Given the description of an element on the screen output the (x, y) to click on. 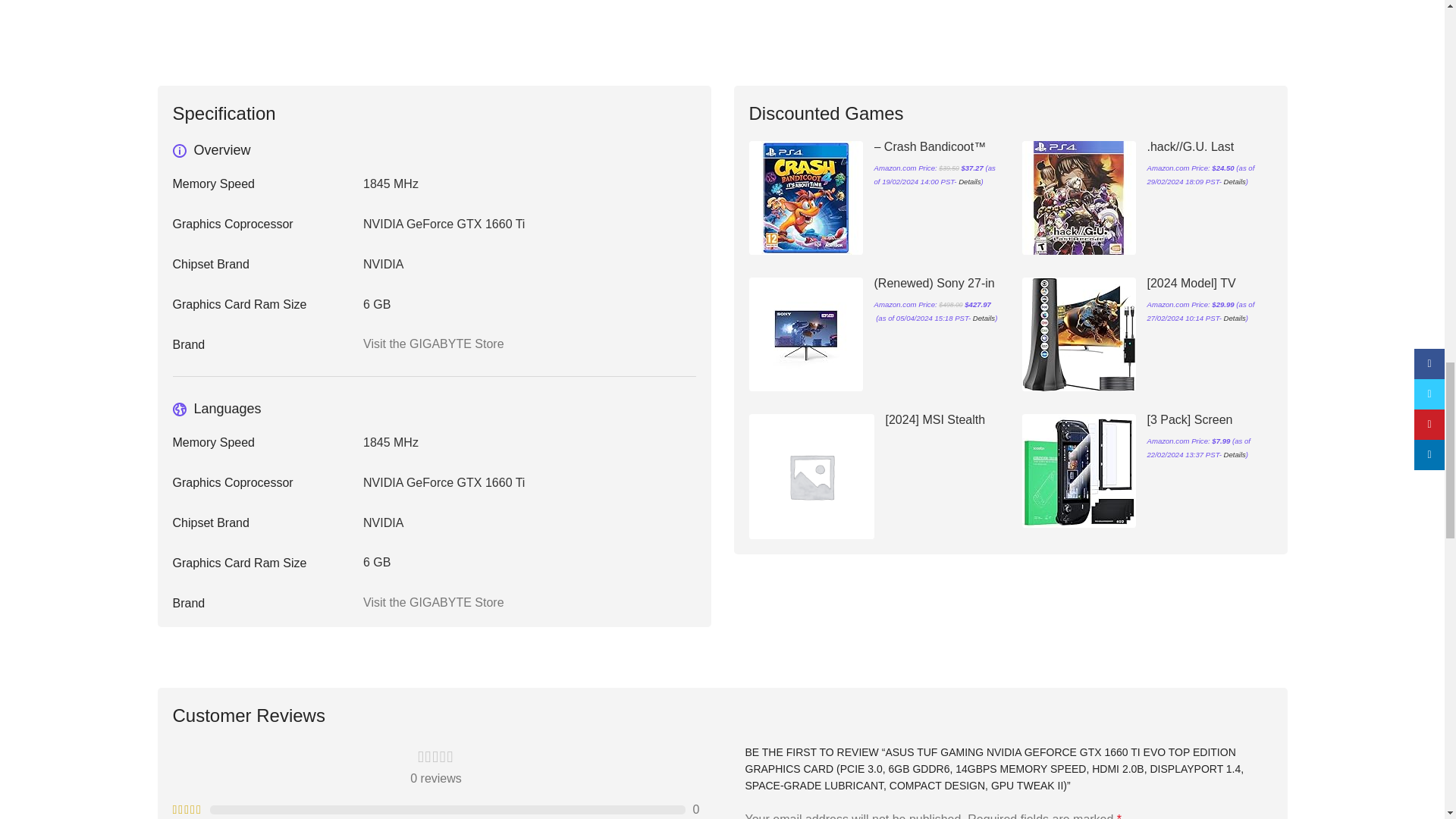
wd-vgs-specification-overview-w (179, 151)
wd-vgs-specification-languages-w (179, 409)
